Given the description of an element on the screen output the (x, y) to click on. 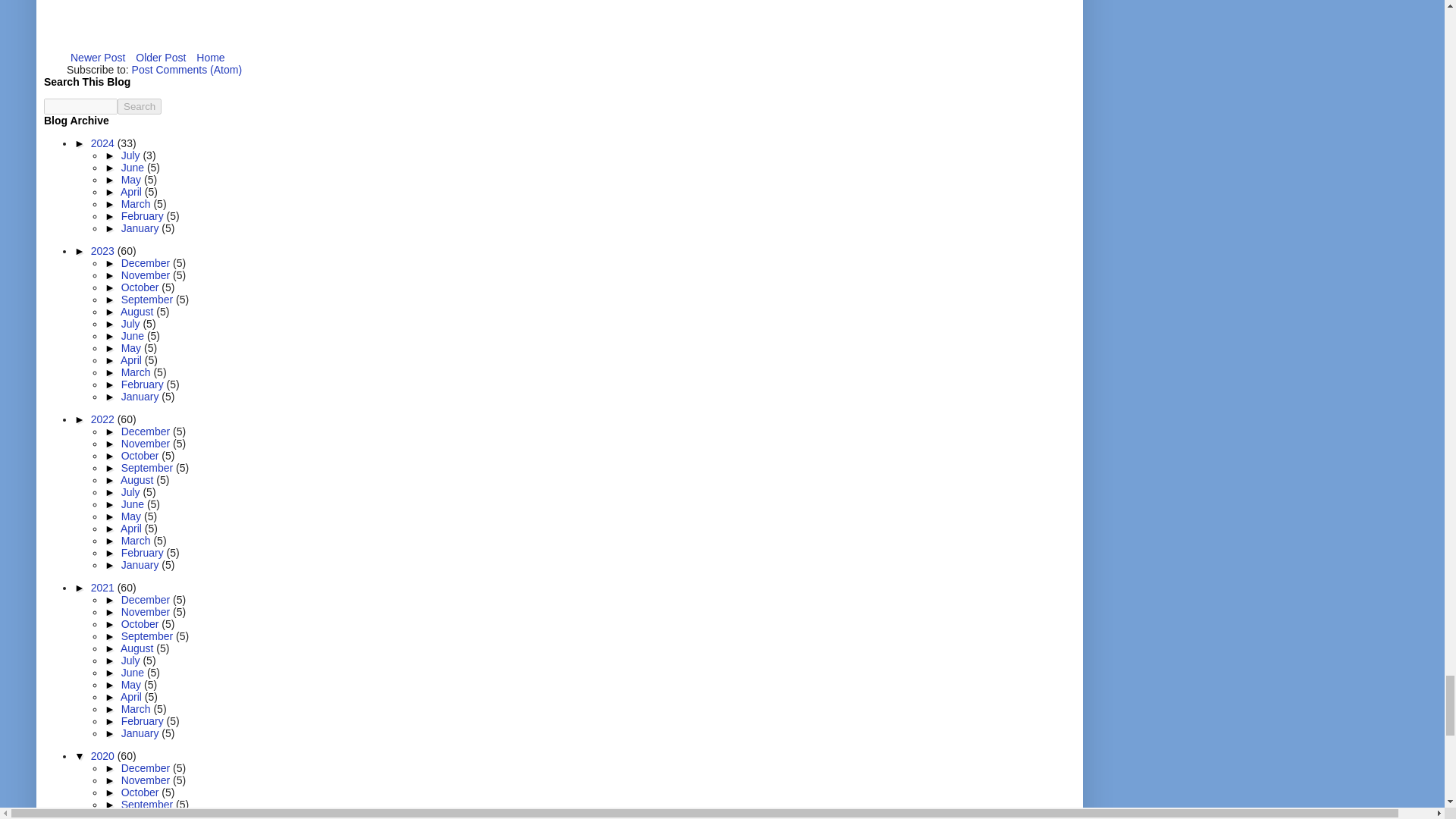
search (80, 106)
Older Post (160, 57)
Search (139, 106)
search (139, 106)
Newer Post (97, 57)
Search (139, 106)
